Given the description of an element on the screen output the (x, y) to click on. 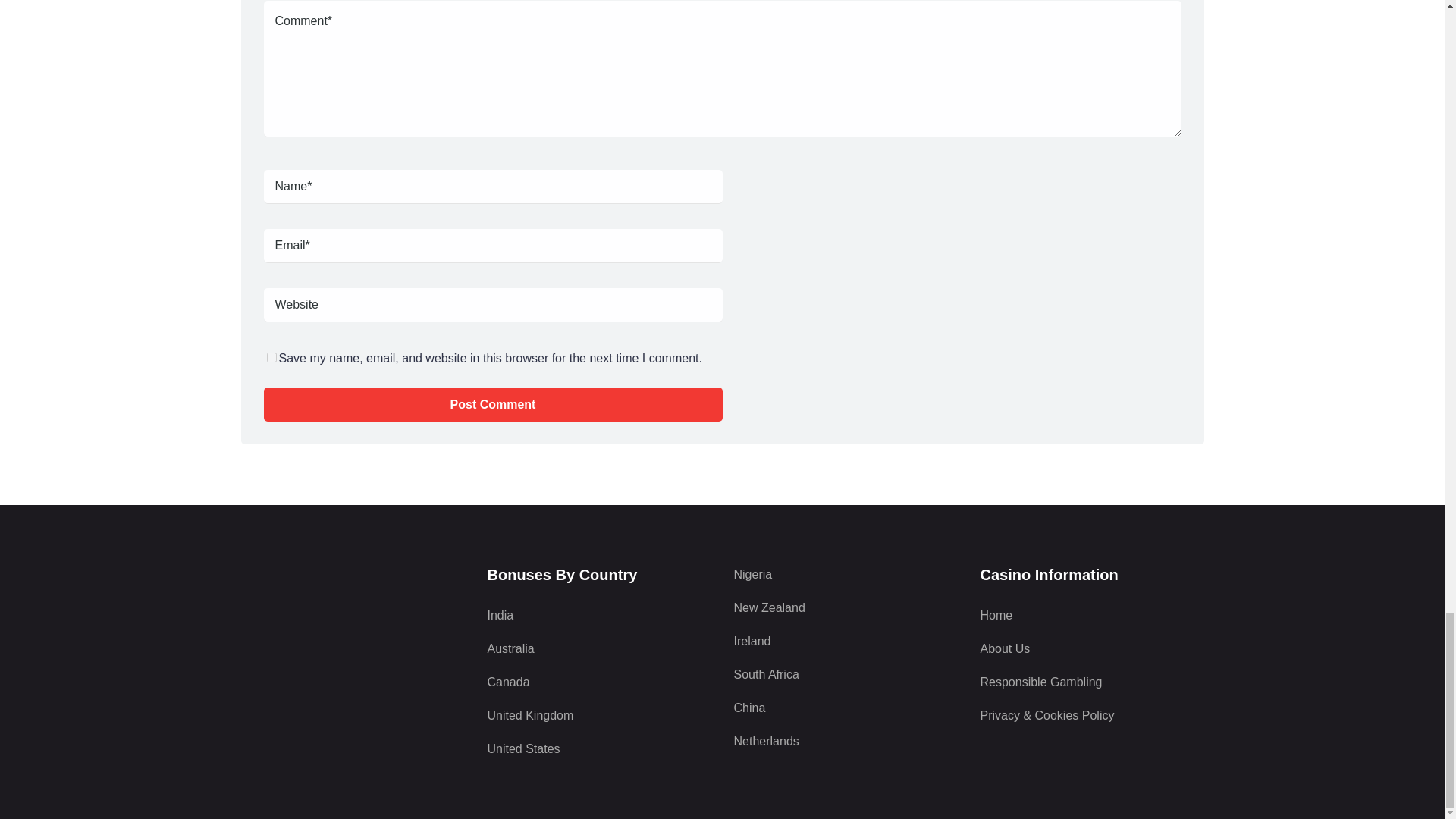
New Zealand (845, 607)
South Africa (845, 674)
India (598, 615)
Netherlands (845, 741)
United Kingdom (598, 715)
Canada (598, 682)
Ireland (845, 641)
yes (271, 357)
China (845, 708)
Nigeria (845, 574)
cropped-No-Deposit-Icon4-01white (352, 622)
Australia (598, 648)
Post Comment (492, 404)
Post Comment (492, 404)
Home (1091, 615)
